Given the description of an element on the screen output the (x, y) to click on. 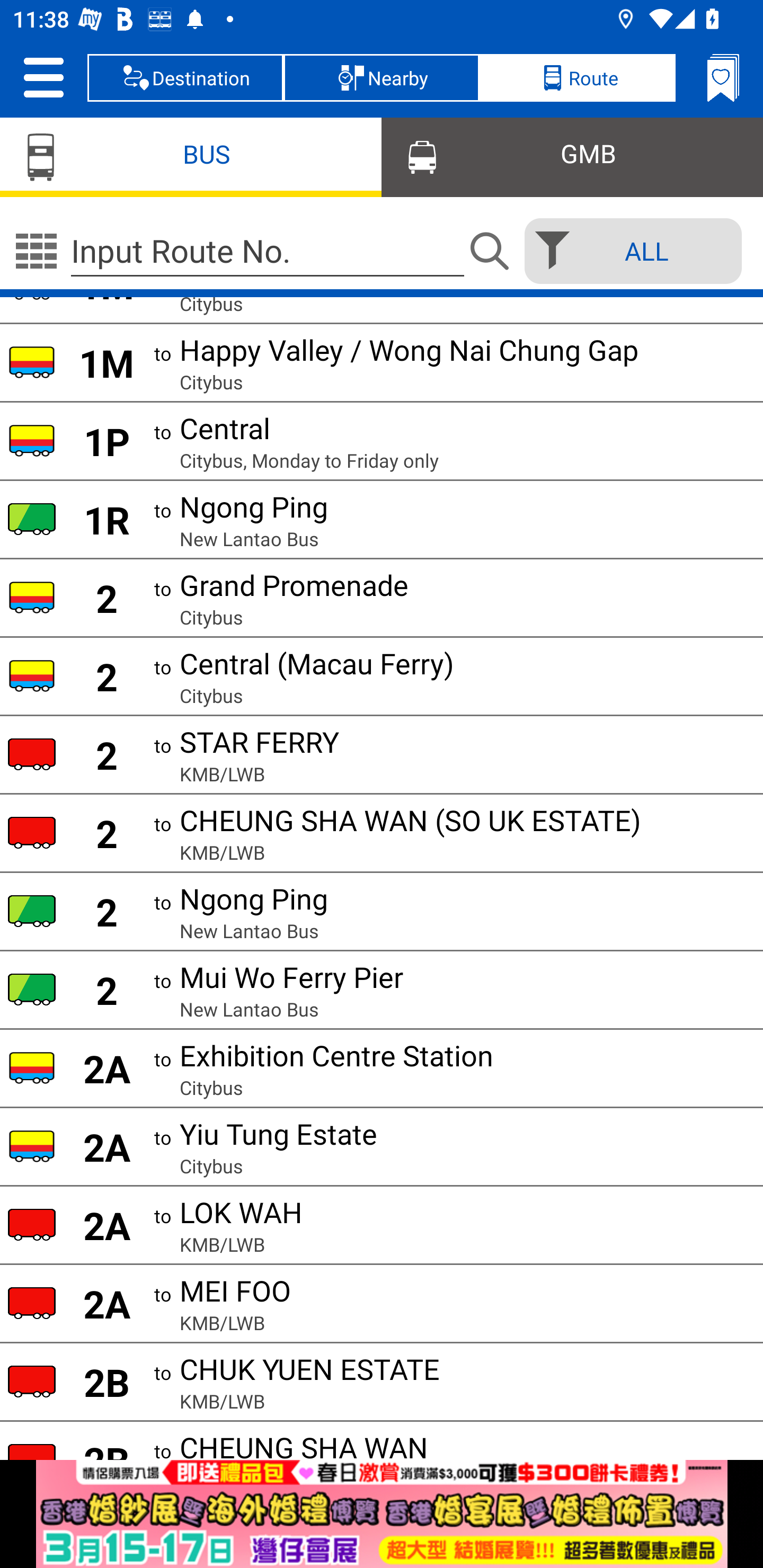
Destination (185, 77)
Nearby (381, 77)
Route, selected (577, 77)
Bookmarks (723, 77)
Setting (43, 77)
BUS, selected (190, 155)
GMB (572, 155)
selected ALL (627, 250)
no (36, 250)
index (381, 1513)
